Given the description of an element on the screen output the (x, y) to click on. 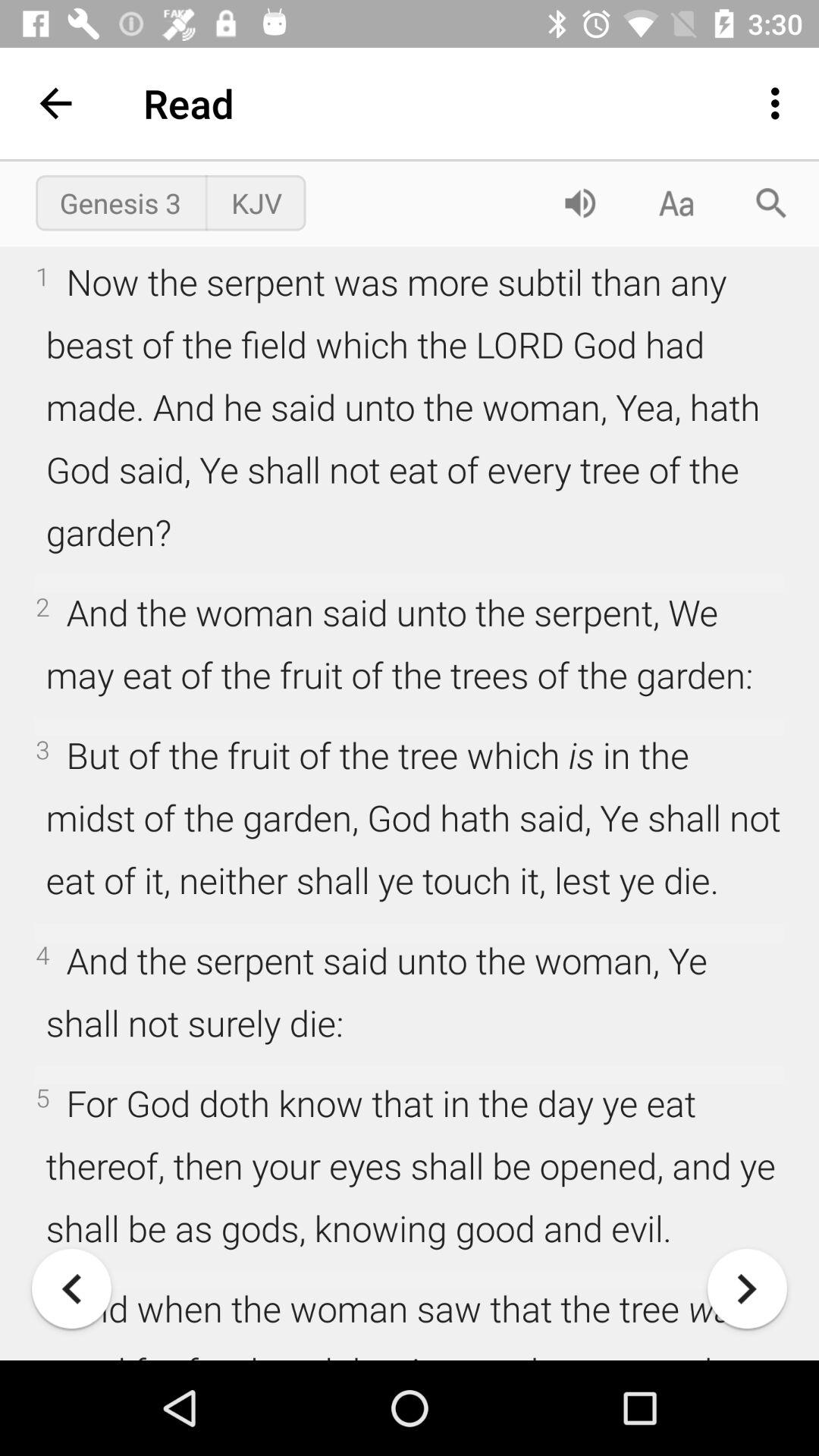
go back (71, 1288)
